Given the description of an element on the screen output the (x, y) to click on. 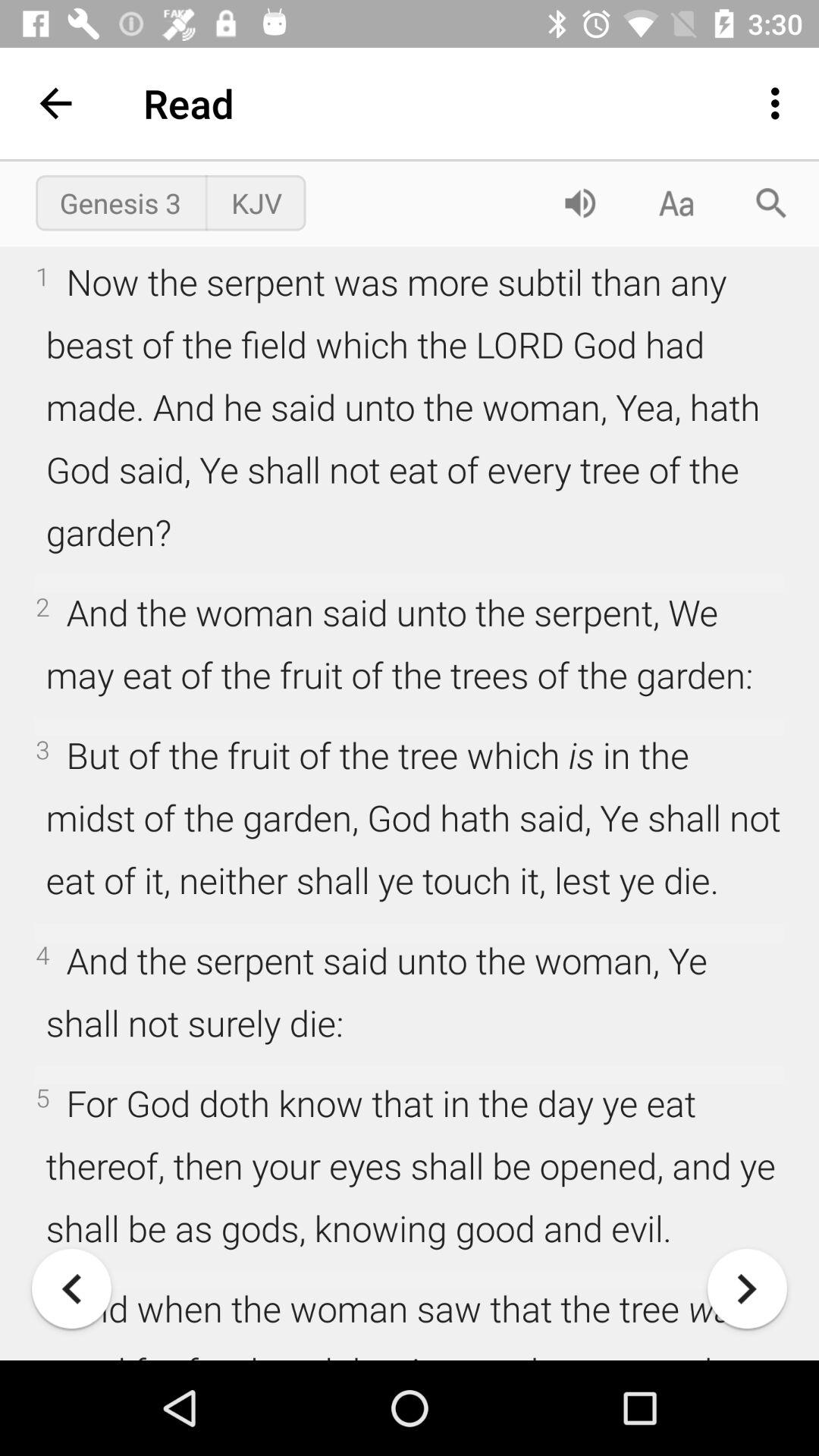
go back (71, 1288)
